Given the description of an element on the screen output the (x, y) to click on. 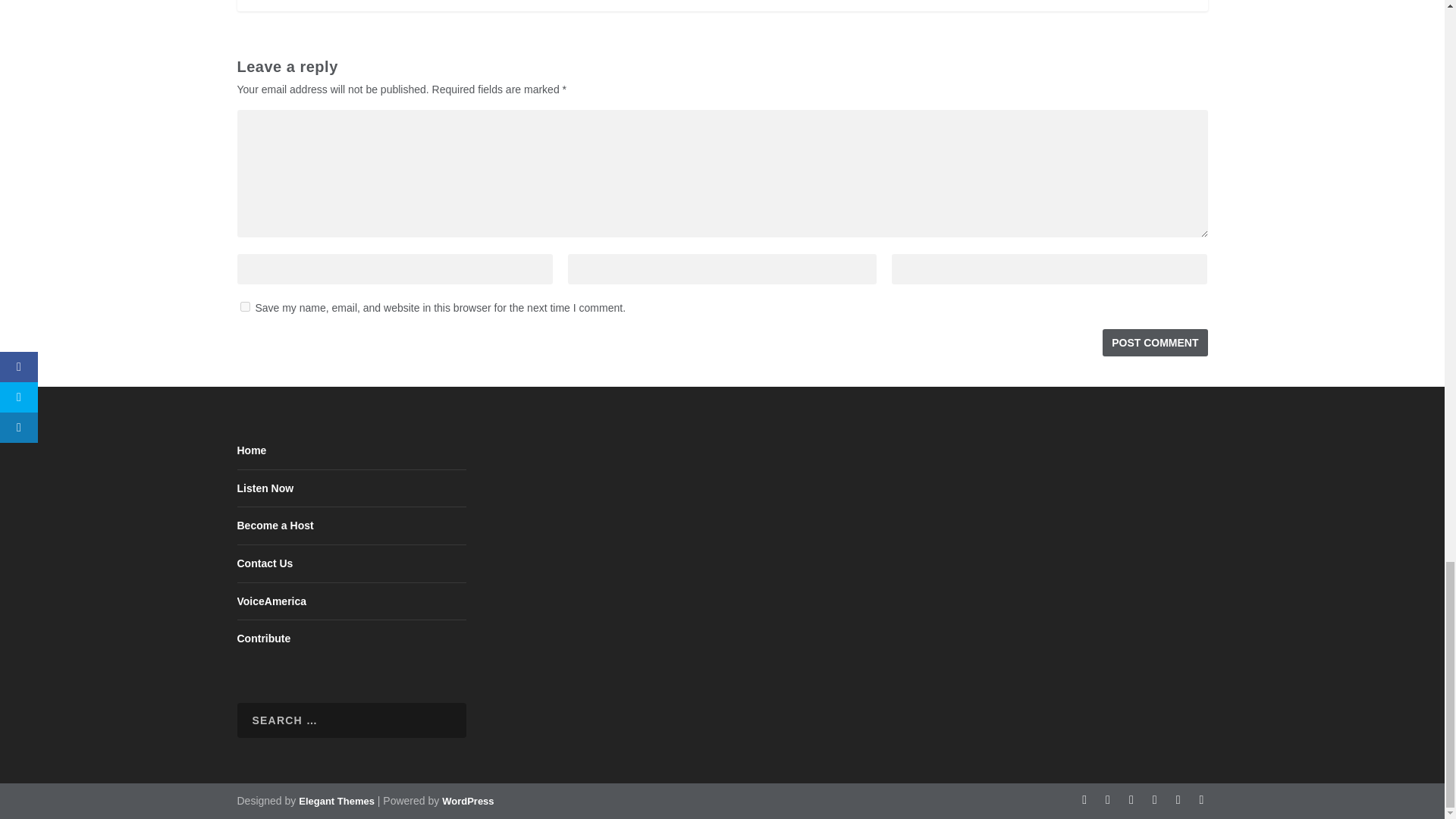
yes (244, 307)
Post Comment (1154, 342)
